Given the description of an element on the screen output the (x, y) to click on. 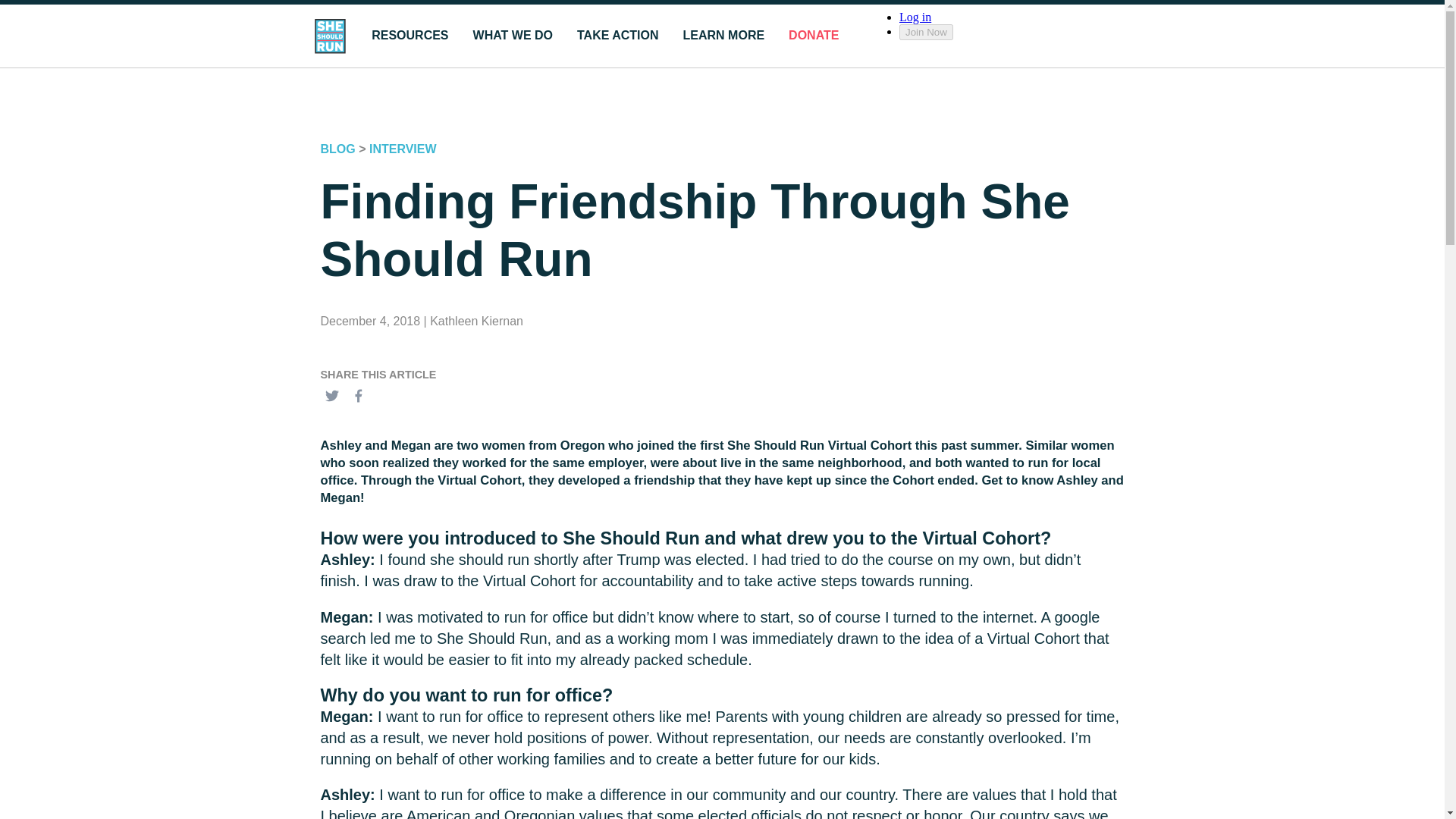
RESOURCES (409, 35)
INTERVIEW (402, 148)
TAKE ACTION (617, 35)
WHAT WE DO (513, 35)
She Should Run Community (1014, 33)
LEARN MORE (723, 35)
BLOG (337, 148)
